Given the description of an element on the screen output the (x, y) to click on. 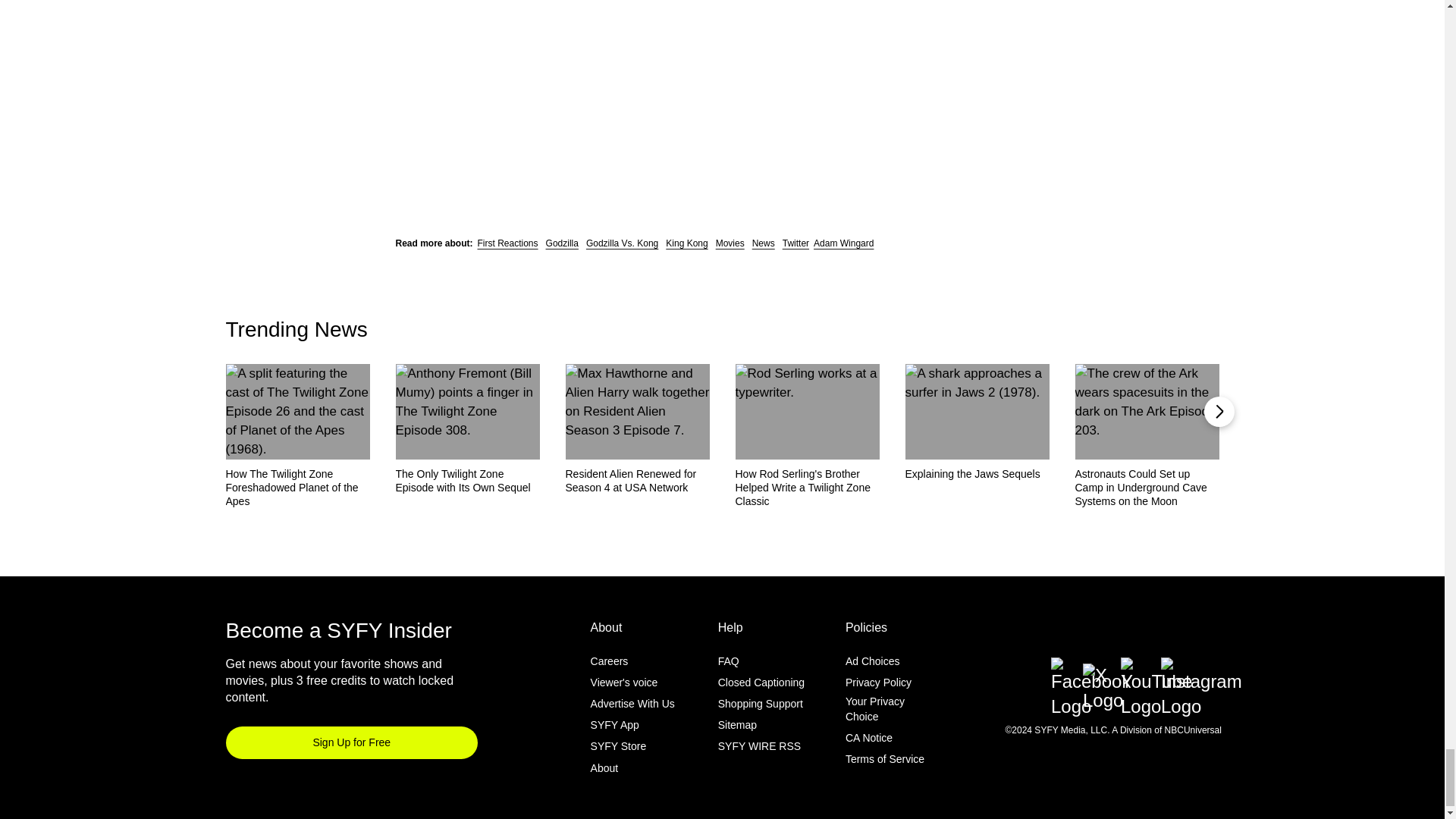
Advertise With Us (633, 704)
